Given the description of an element on the screen output the (x, y) to click on. 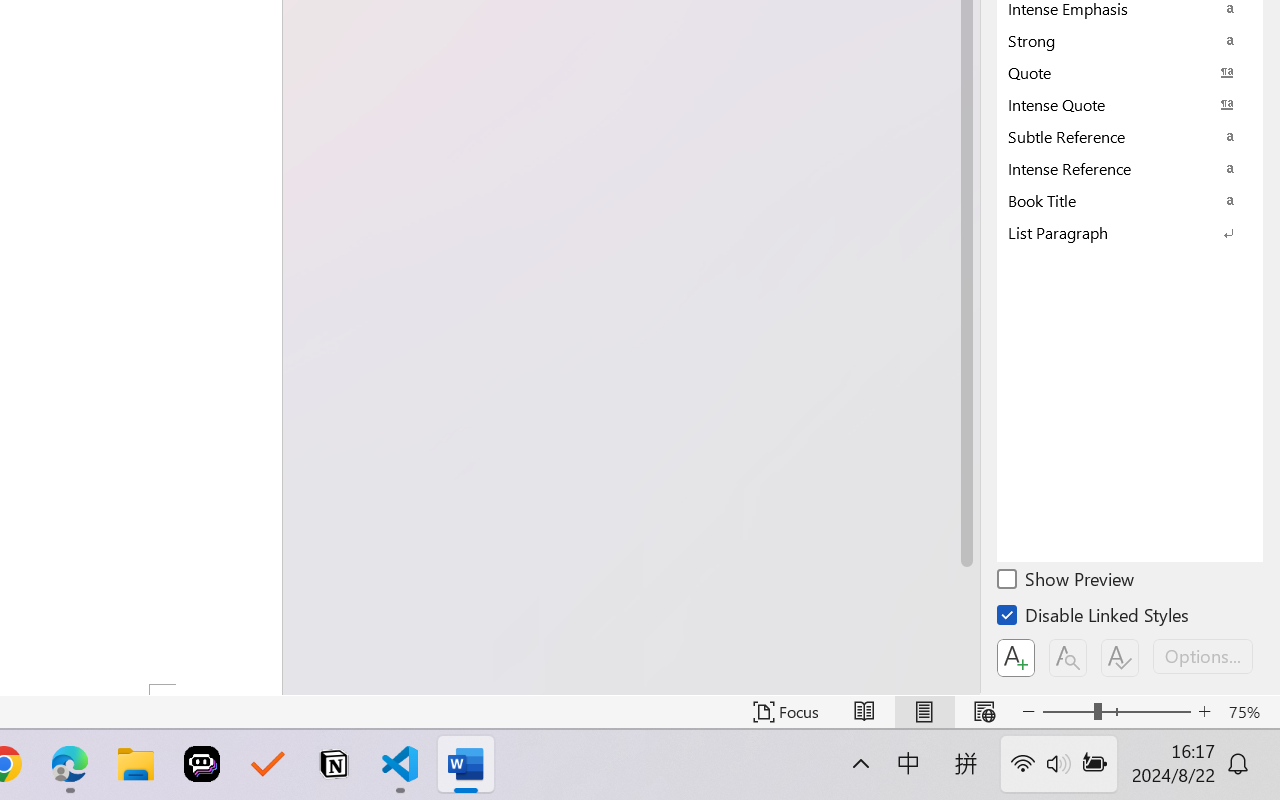
List Paragraph (1130, 232)
Options... (1203, 656)
Subtle Reference (1130, 136)
Class: NetUIButton (1119, 657)
Disable Linked Styles (1094, 618)
Intense Quote (1130, 104)
Book Title (1130, 200)
Zoom 75% (1249, 712)
Strong (1130, 40)
Quote (1130, 72)
